Given the description of an element on the screen output the (x, y) to click on. 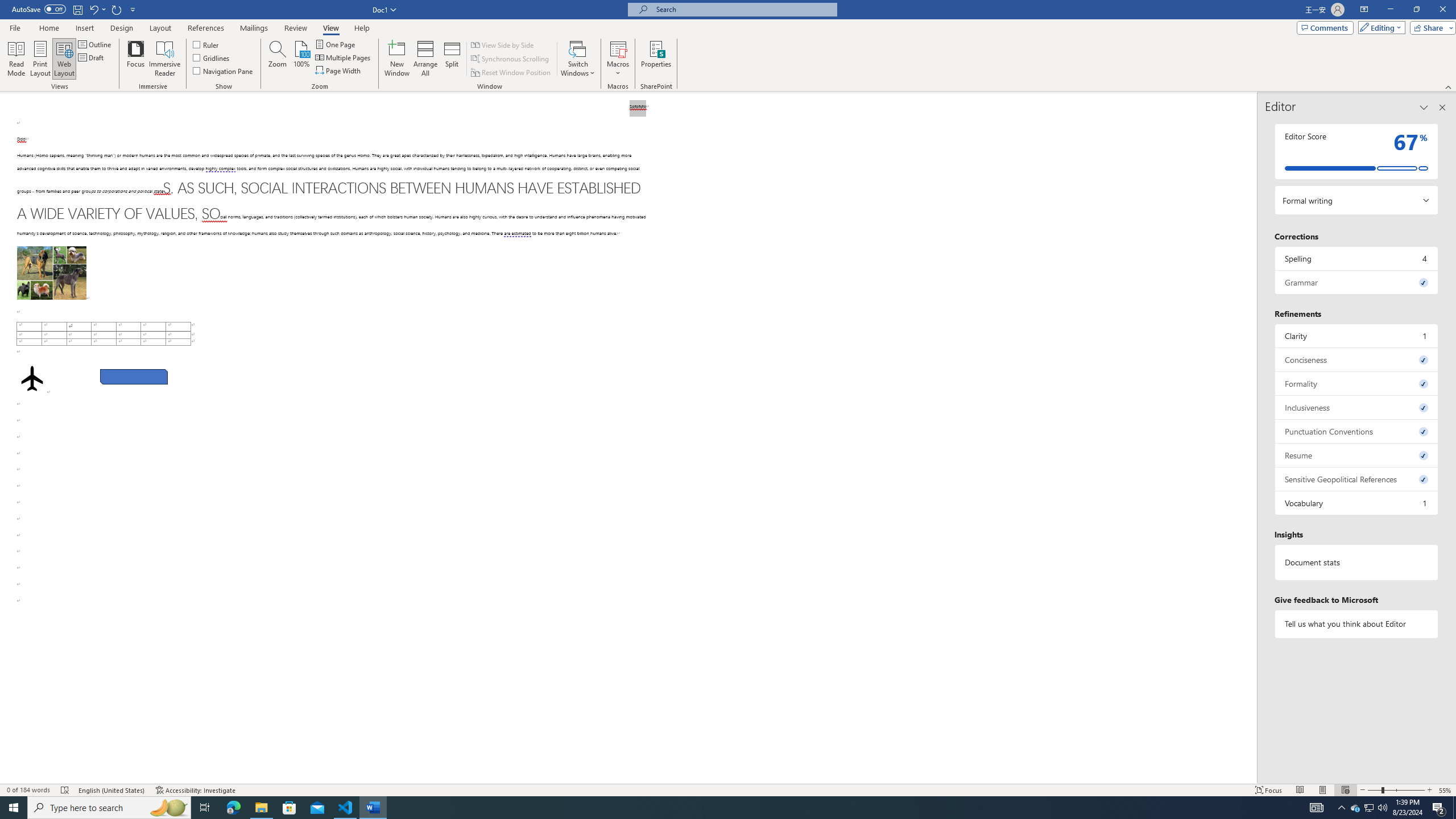
Ruler (206, 44)
Reset Window Position (511, 72)
100% (301, 58)
Arrange All (425, 58)
Airplane with solid fill (31, 378)
Multiple Pages (343, 56)
Navigation Pane (223, 69)
